Given the description of an element on the screen output the (x, y) to click on. 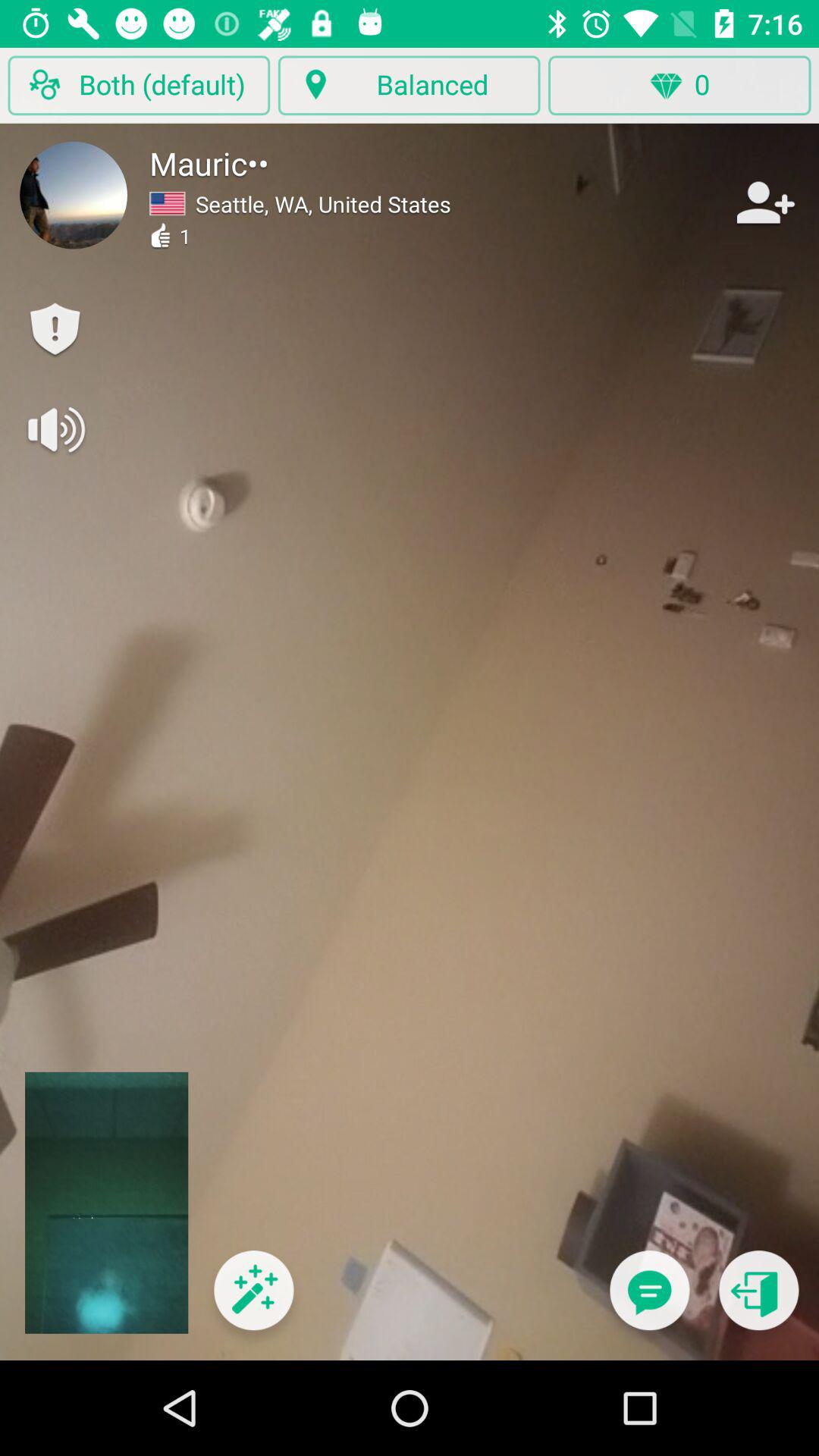
add a friend (763, 202)
